Given the description of an element on the screen output the (x, y) to click on. 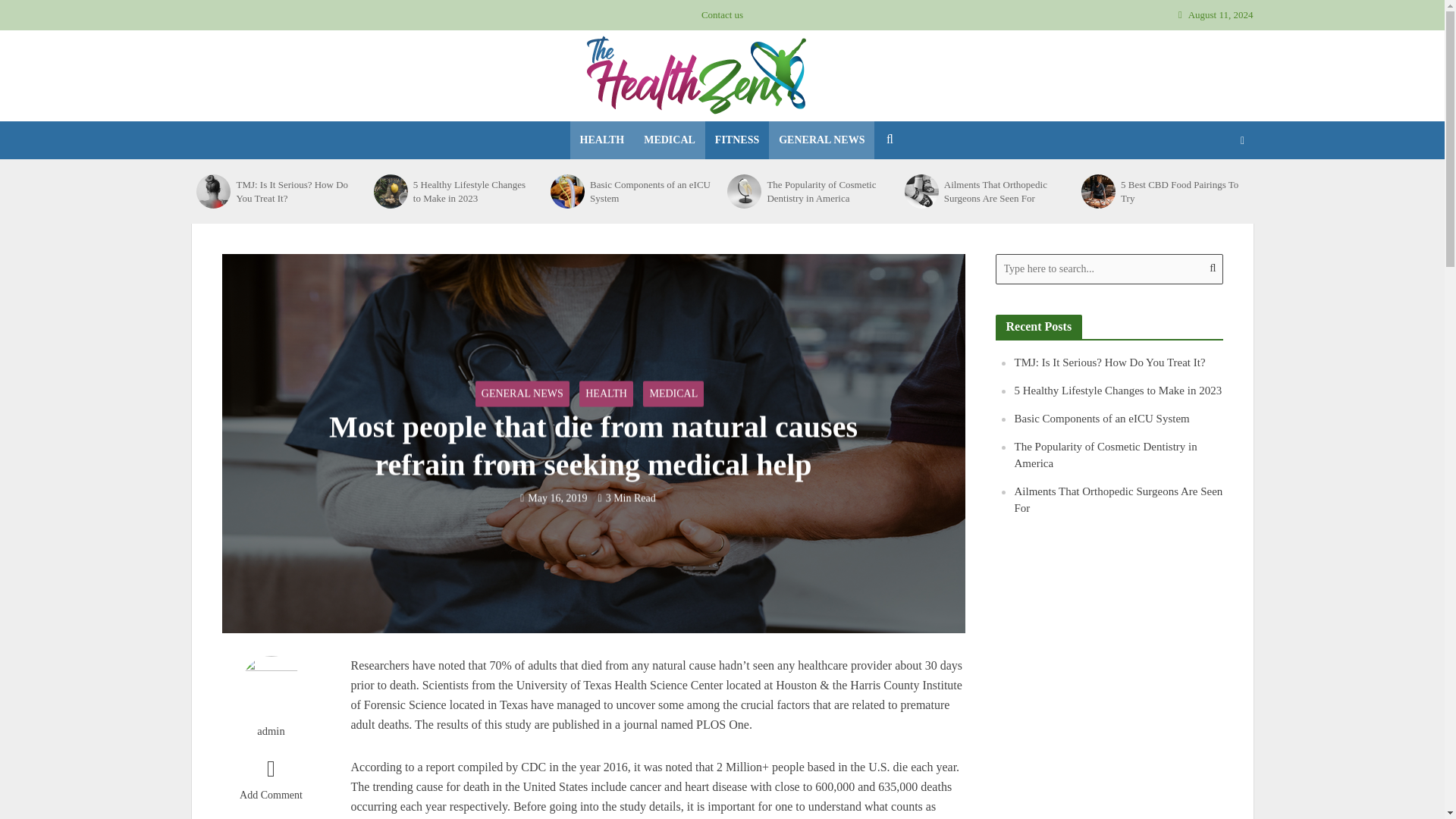
TMJ: Is It Serious? How Do You Treat It? (295, 190)
5 Best CBD Food Pairings To Try (1098, 191)
Contact us (722, 15)
admin (270, 730)
Ailments That Orthopedic Surgeons Are Seen For (921, 191)
MEDICAL (668, 139)
Ailments That Orthopedic Surgeons Are Seen For (1003, 190)
HEALTH (602, 139)
Basic Components of an eICU System (566, 191)
HEALTH (606, 393)
